Given the description of an element on the screen output the (x, y) to click on. 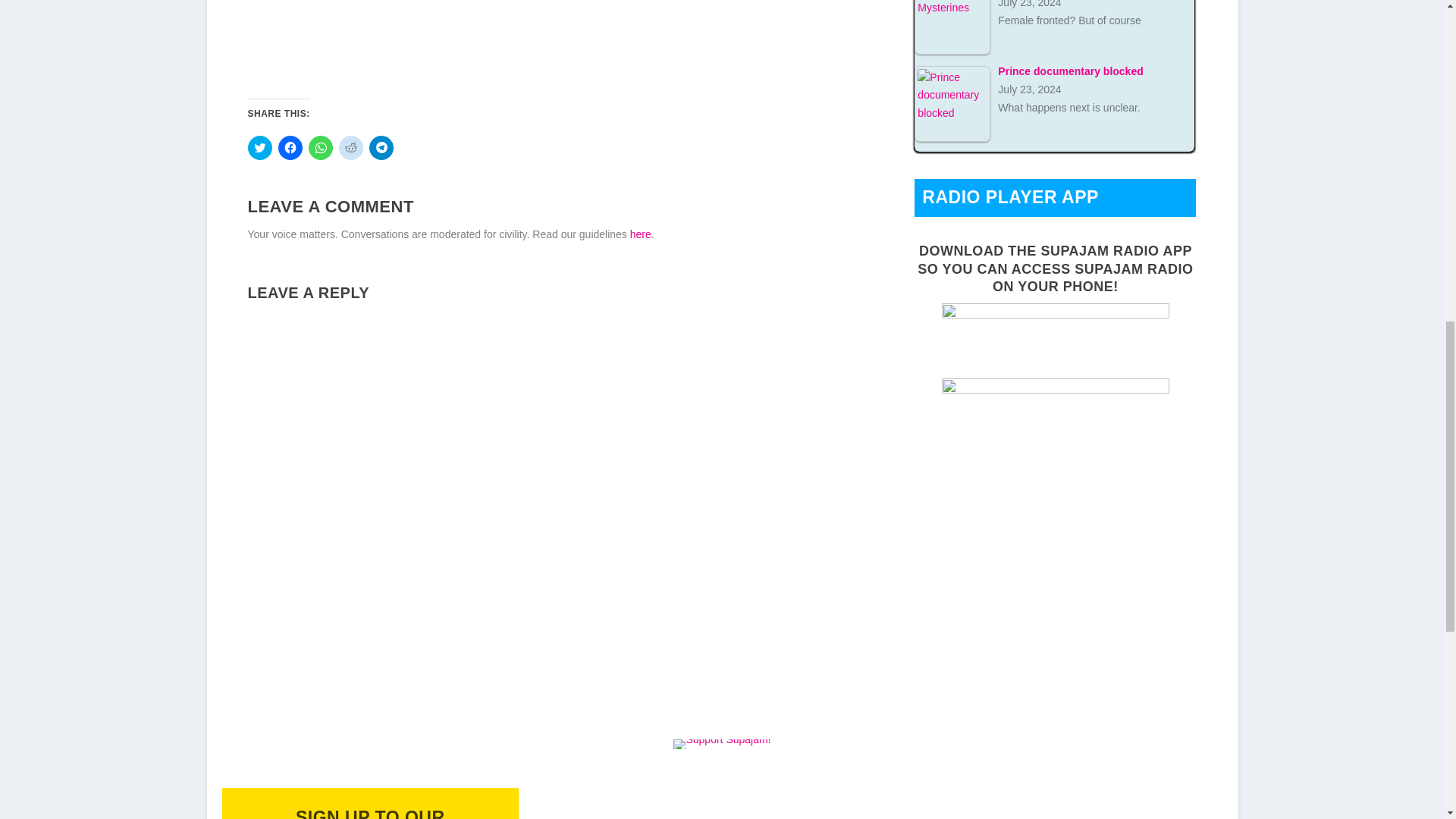
Click to share on Reddit (349, 147)
here (640, 234)
Click to share on WhatsApp (319, 147)
Support Supajam! (721, 745)
Twitter Tweet (455, 45)
Click to share on Twitter (258, 147)
Click to share on Telegram (380, 147)
Meet The Mysterines (952, 27)
Prince documentary blocked (952, 103)
Click to share on Facebook (289, 147)
